Given the description of an element on the screen output the (x, y) to click on. 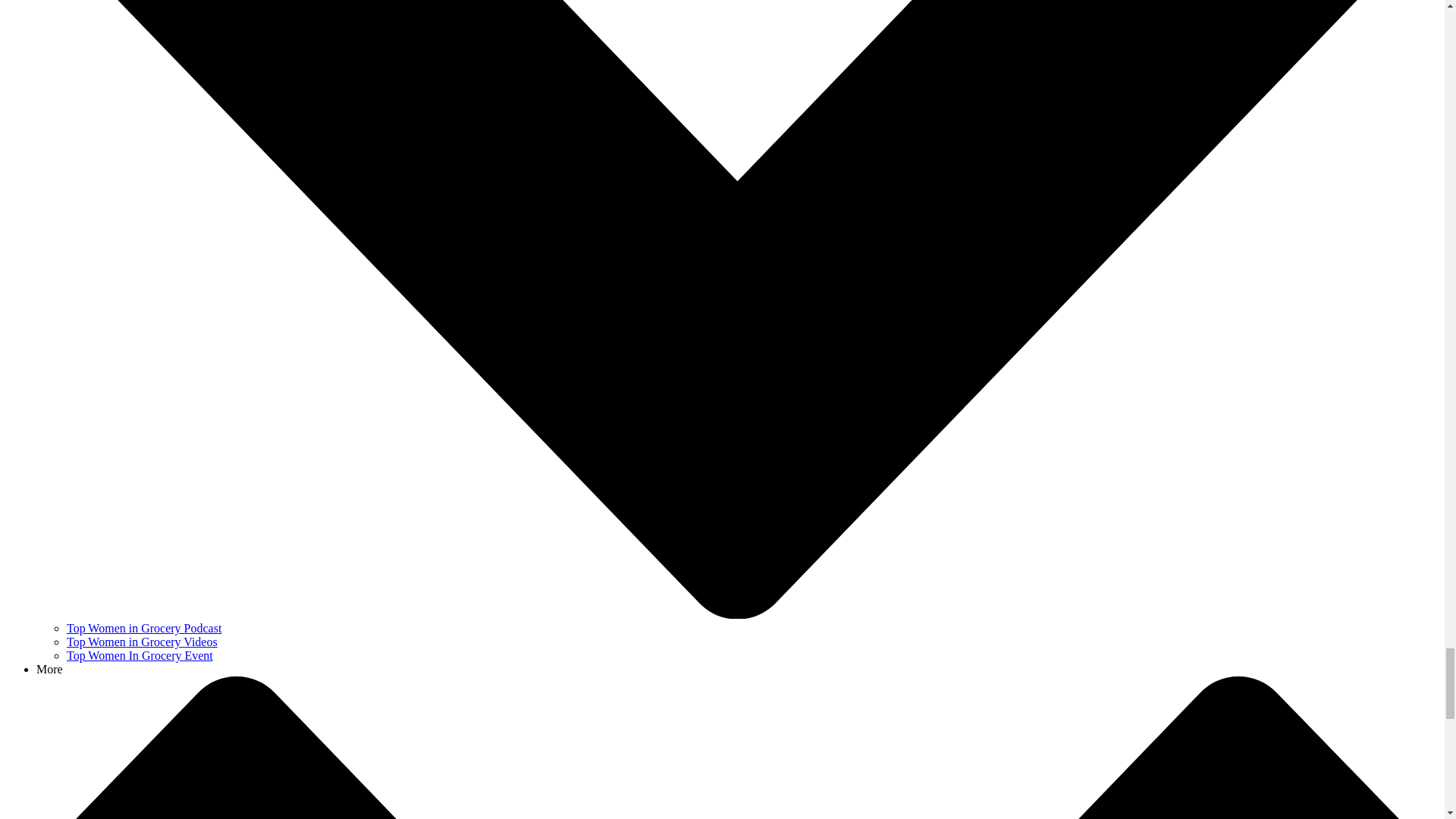
Top Women In Grocery Event (139, 655)
Top Women in Grocery Podcast (143, 627)
More (49, 668)
Top Women in Grocery Videos (141, 641)
